Given the description of an element on the screen output the (x, y) to click on. 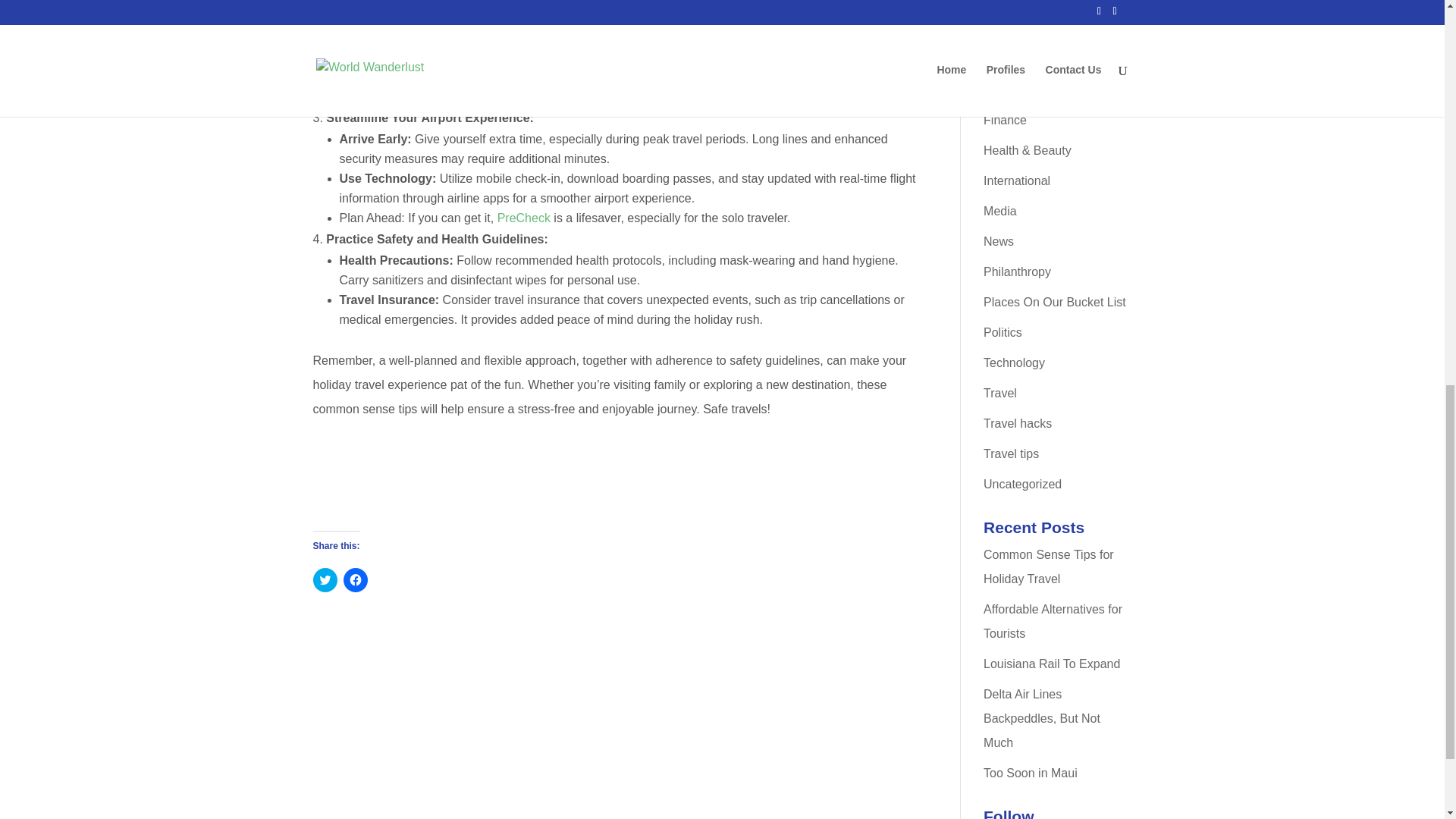
Common Sense Tips for Holiday Travel (1048, 566)
Business (1008, 29)
Too Soon in Maui (1030, 772)
Delta Air Lines Backpeddles, But Not Much (1042, 718)
Louisiana Rail To Expand (1051, 663)
Affordable Alternatives for Tourists (1053, 620)
PreCheck (523, 217)
Travel hacks (1017, 422)
International (1016, 180)
Education (1010, 59)
